Given the description of an element on the screen output the (x, y) to click on. 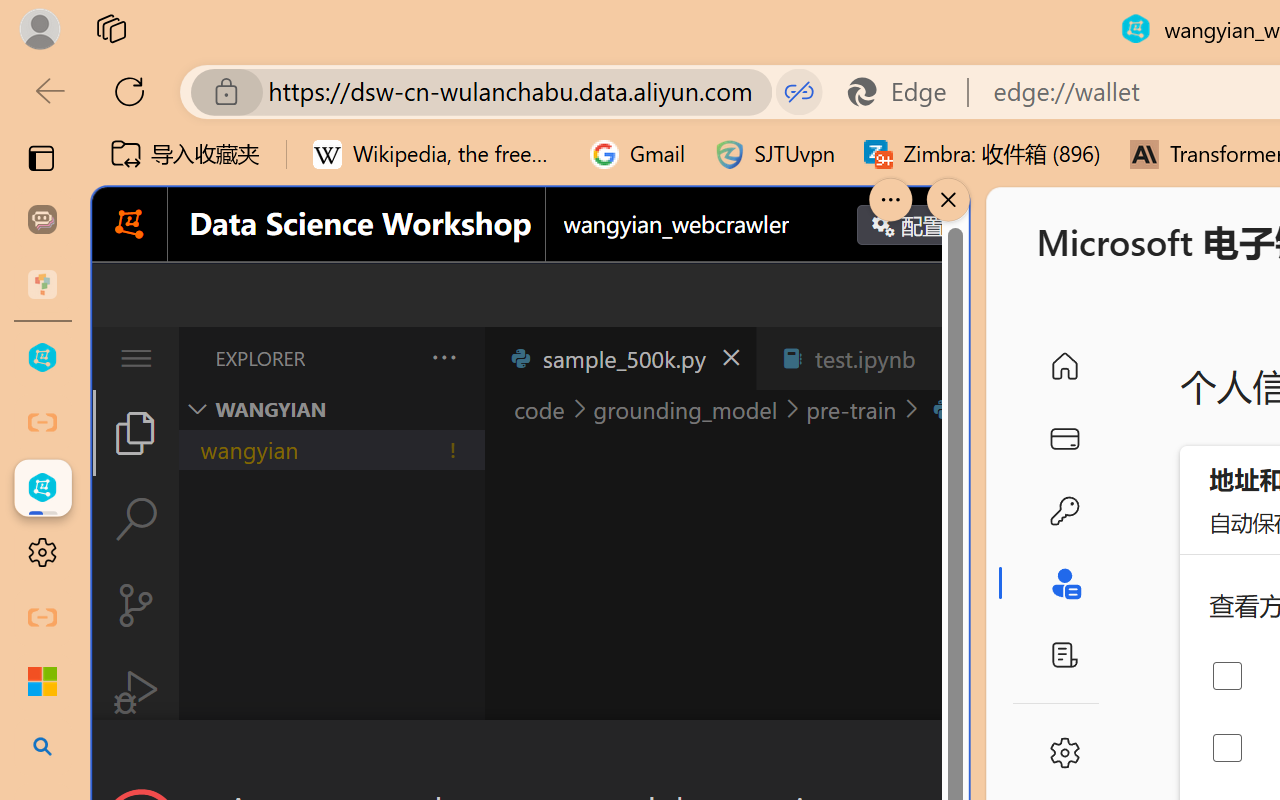
Microsoft security help and learning (42, 681)
Explorer actions (391, 358)
sample_500k.py (619, 358)
Explorer Section: wangyian (331, 409)
Class: actions-container (529, 756)
Tab actions (945, 358)
Source Control (Ctrl+Shift+G) (135, 604)
Search (Ctrl+Shift+F) (135, 519)
test.ipynb (864, 358)
